Given the description of an element on the screen output the (x, y) to click on. 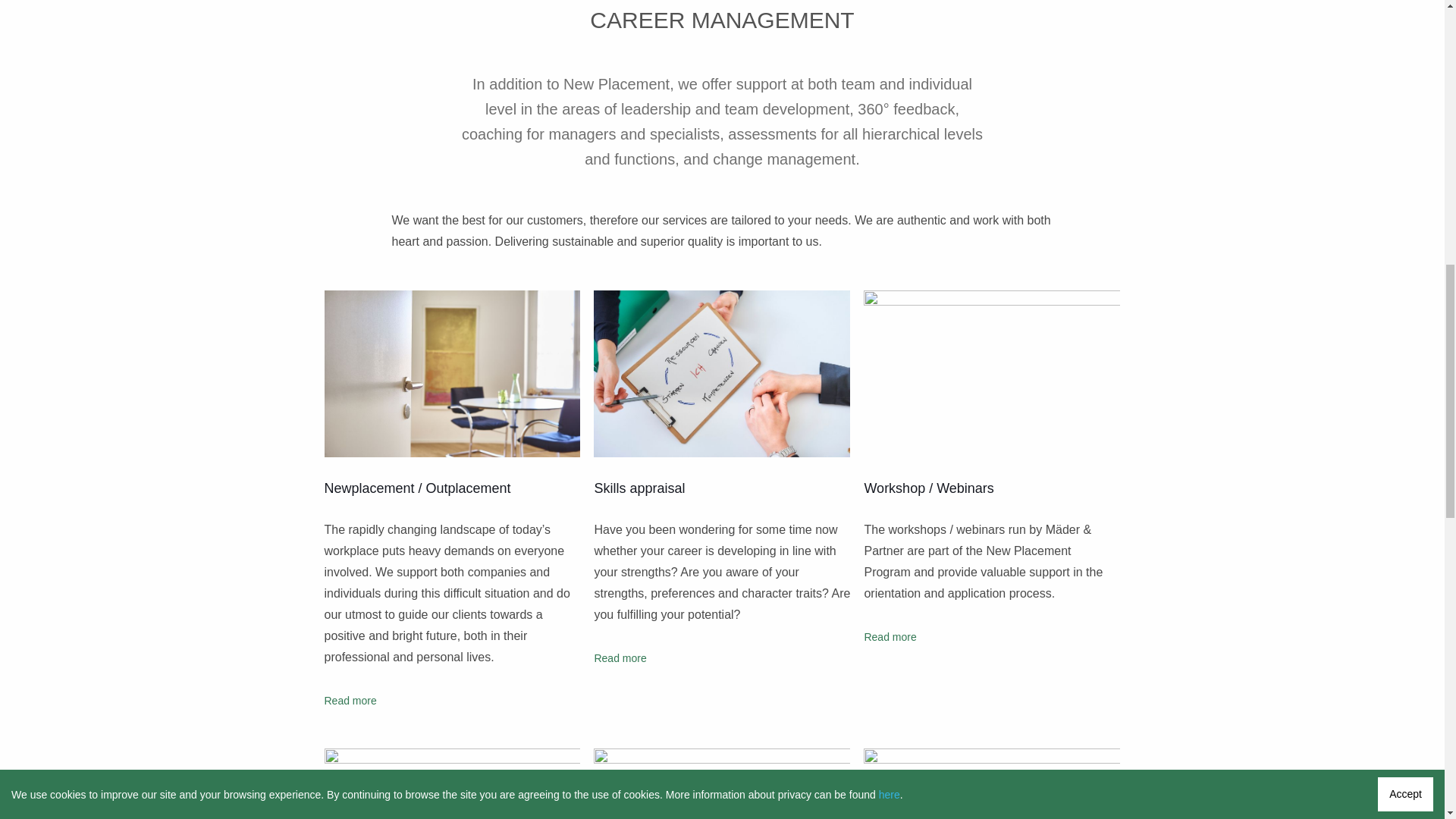
Read more (620, 657)
Read more (889, 636)
Read more (350, 700)
